Given the description of an element on the screen output the (x, y) to click on. 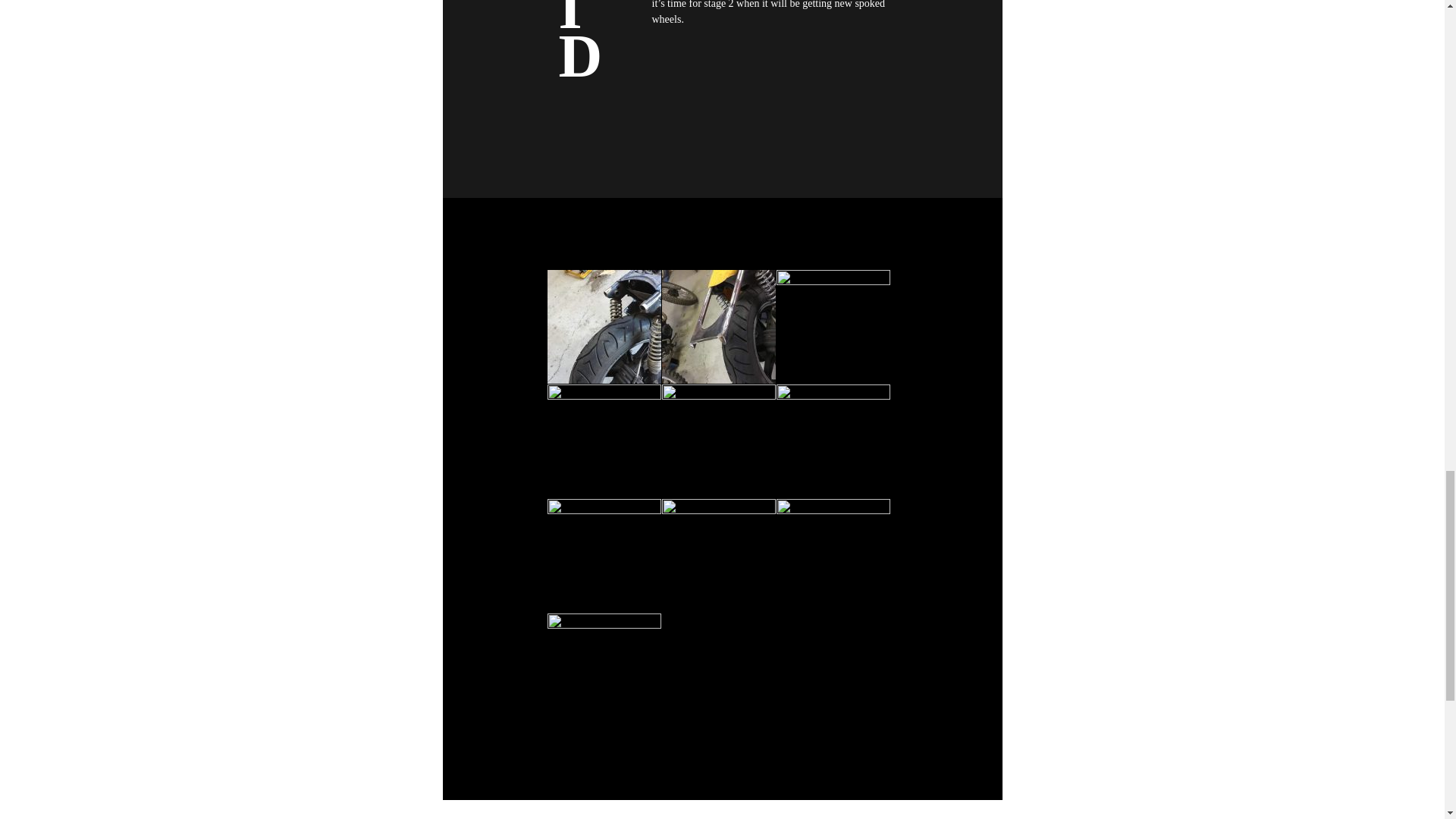
BC-Dec18-5 (717, 555)
BC-Dec18-2 (604, 670)
BC-Dec18-30 (832, 555)
